Given the description of an element on the screen output the (x, y) to click on. 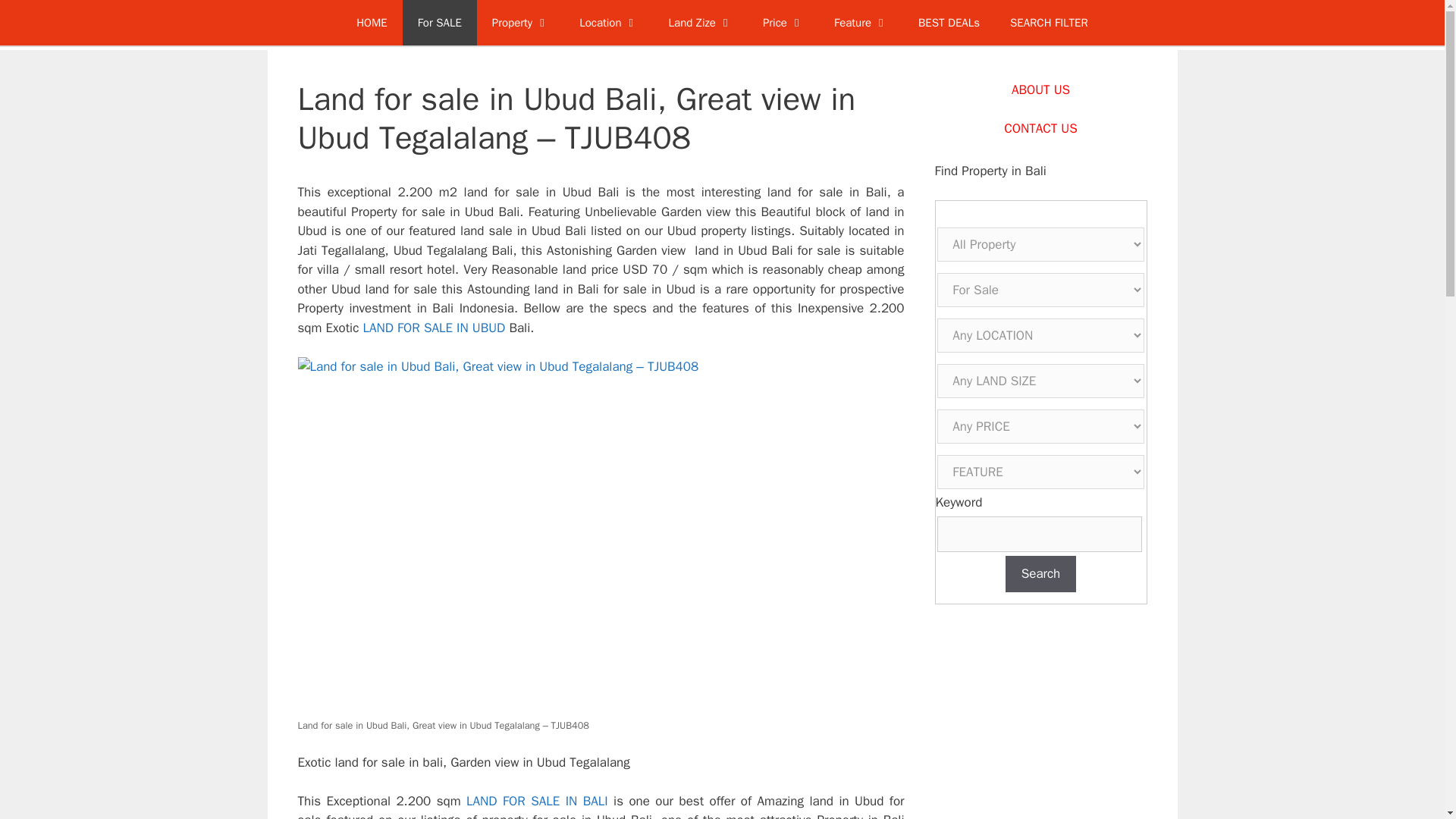
Feature (860, 22)
Affordable Land and PROPERTY for sale IN BALI (440, 22)
Property (520, 22)
LAND FOR SALE IN UBUD (433, 327)
Land Zize (700, 22)
For SALE (440, 22)
HOME (370, 22)
Price (783, 22)
LAND FOR SALE IN BALI (536, 801)
Find Affordable Land for sale in Bali Indonesia (1048, 22)
Search (1041, 574)
Location (608, 22)
